Given the description of an element on the screen output the (x, y) to click on. 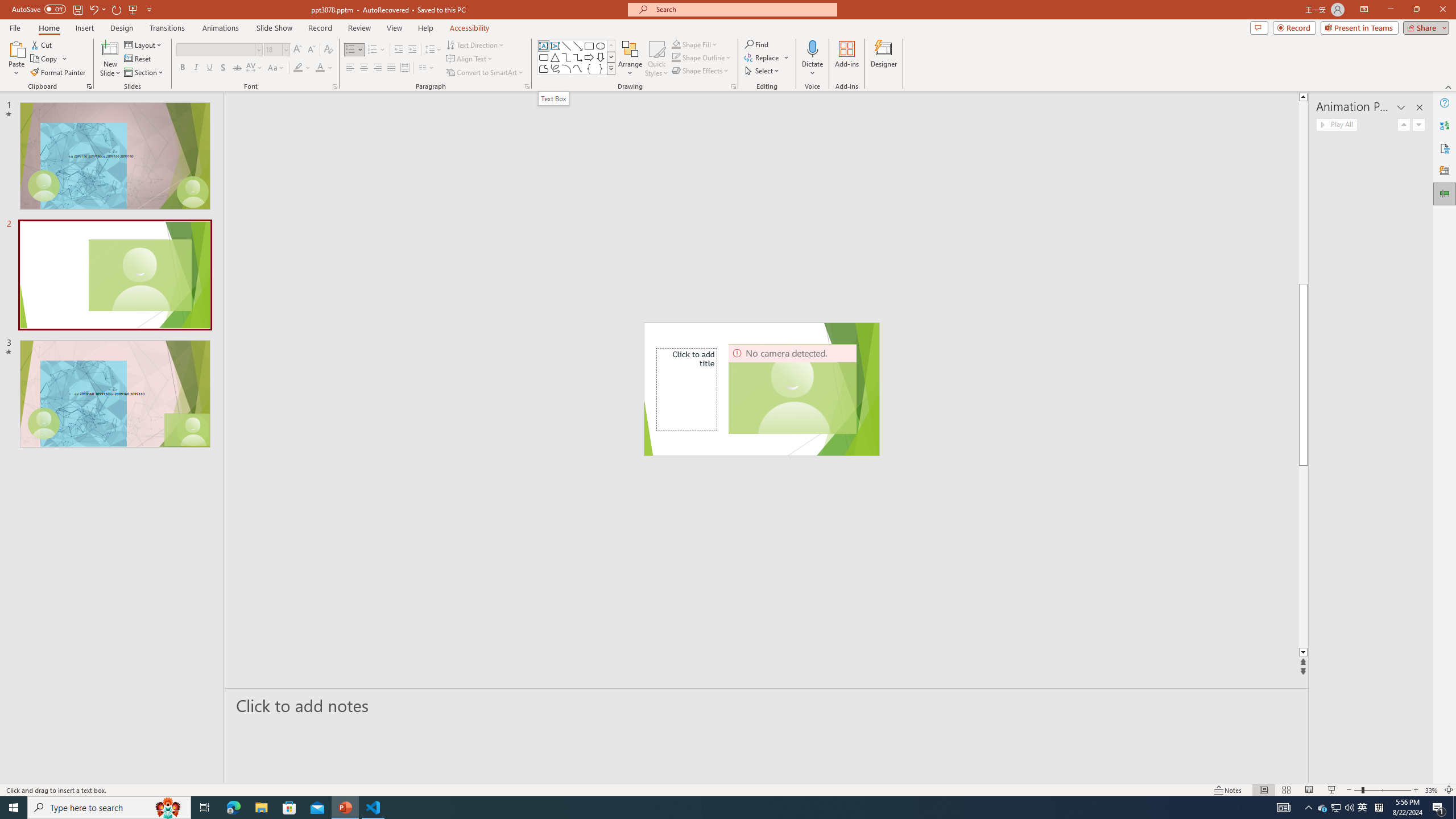
Title TextBox (686, 389)
Camera 3, No camera detected. (792, 388)
